Given the description of an element on the screen output the (x, y) to click on. 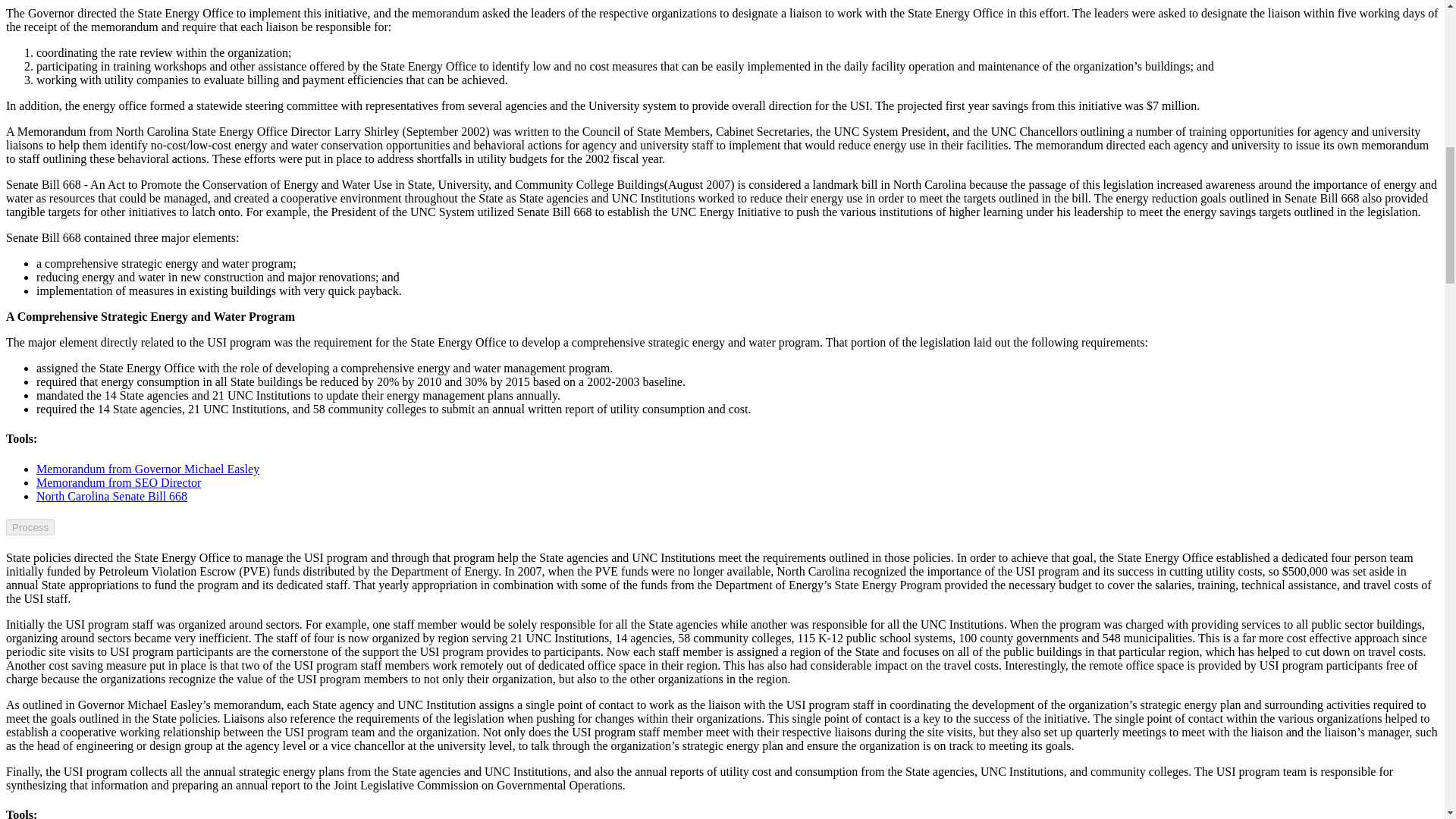
Memorandum from SEO Director (118, 481)
Process (30, 527)
North Carolina Senate Bill 668 (111, 495)
Memorandum from Governor Michael Easley (147, 468)
